Given the description of an element on the screen output the (x, y) to click on. 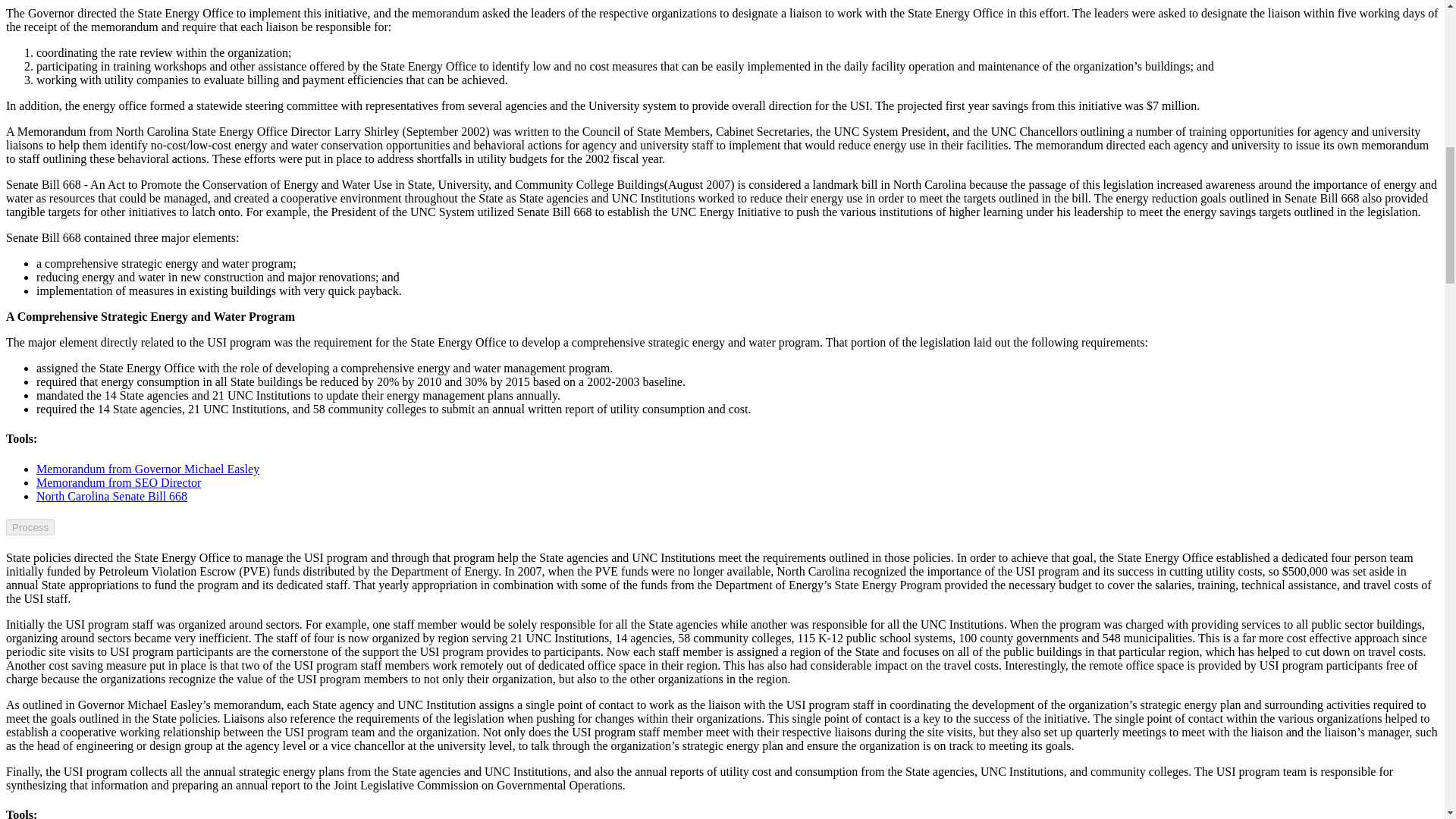
Memorandum from SEO Director (118, 481)
Process (30, 527)
North Carolina Senate Bill 668 (111, 495)
Memorandum from Governor Michael Easley (147, 468)
